Given the description of an element on the screen output the (x, y) to click on. 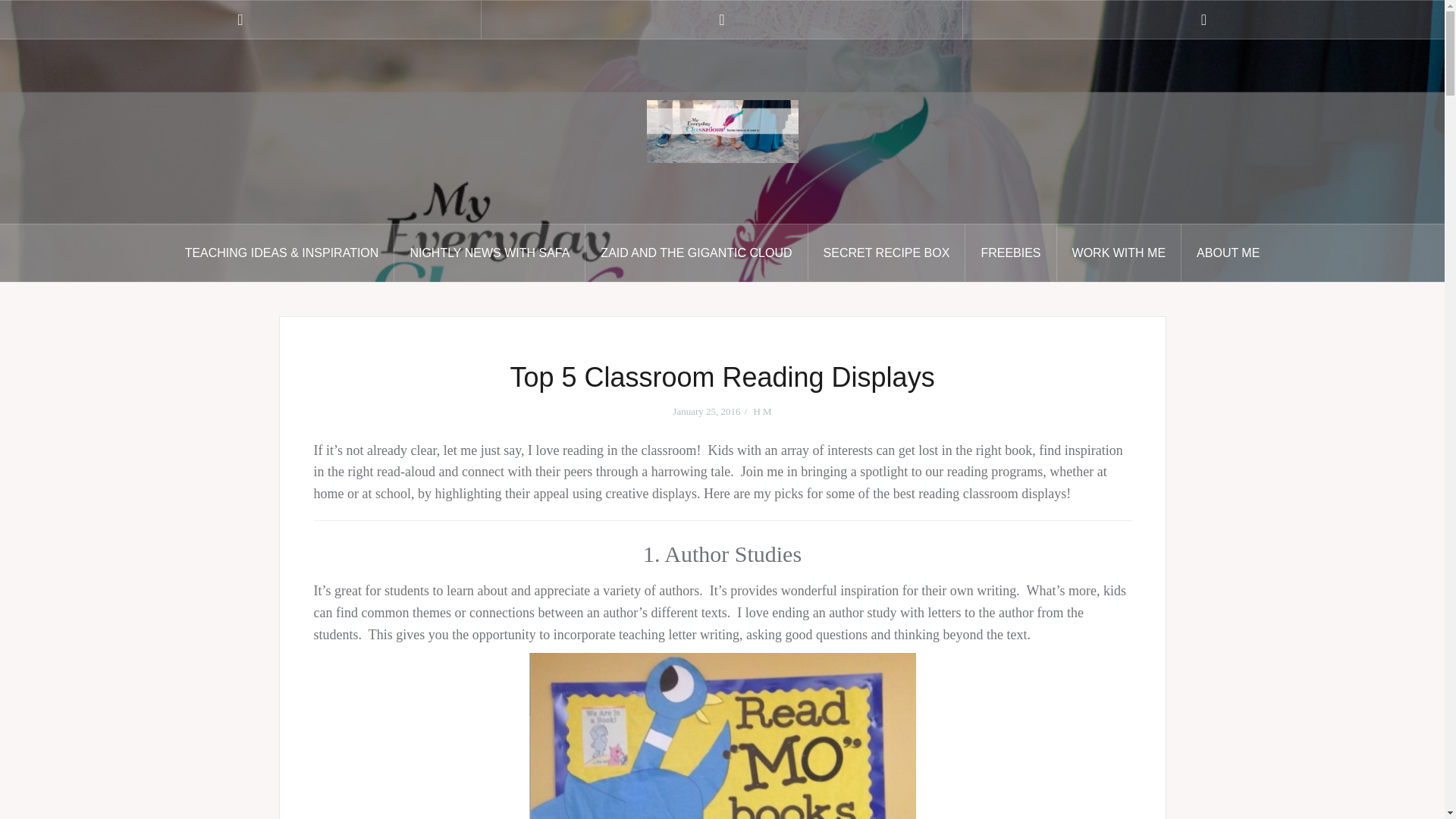
ZAID AND THE GIGANTIC CLOUD (696, 252)
FREEBIES (1011, 252)
NIGHTLY NEWS WITH SAFA (489, 252)
Facebook (240, 19)
WORK WITH ME (1119, 252)
SECRET RECIPE BOX (887, 252)
Instagram (721, 19)
My Everyday Classroom (721, 130)
ABOUT ME (1227, 252)
